Given the description of an element on the screen output the (x, y) to click on. 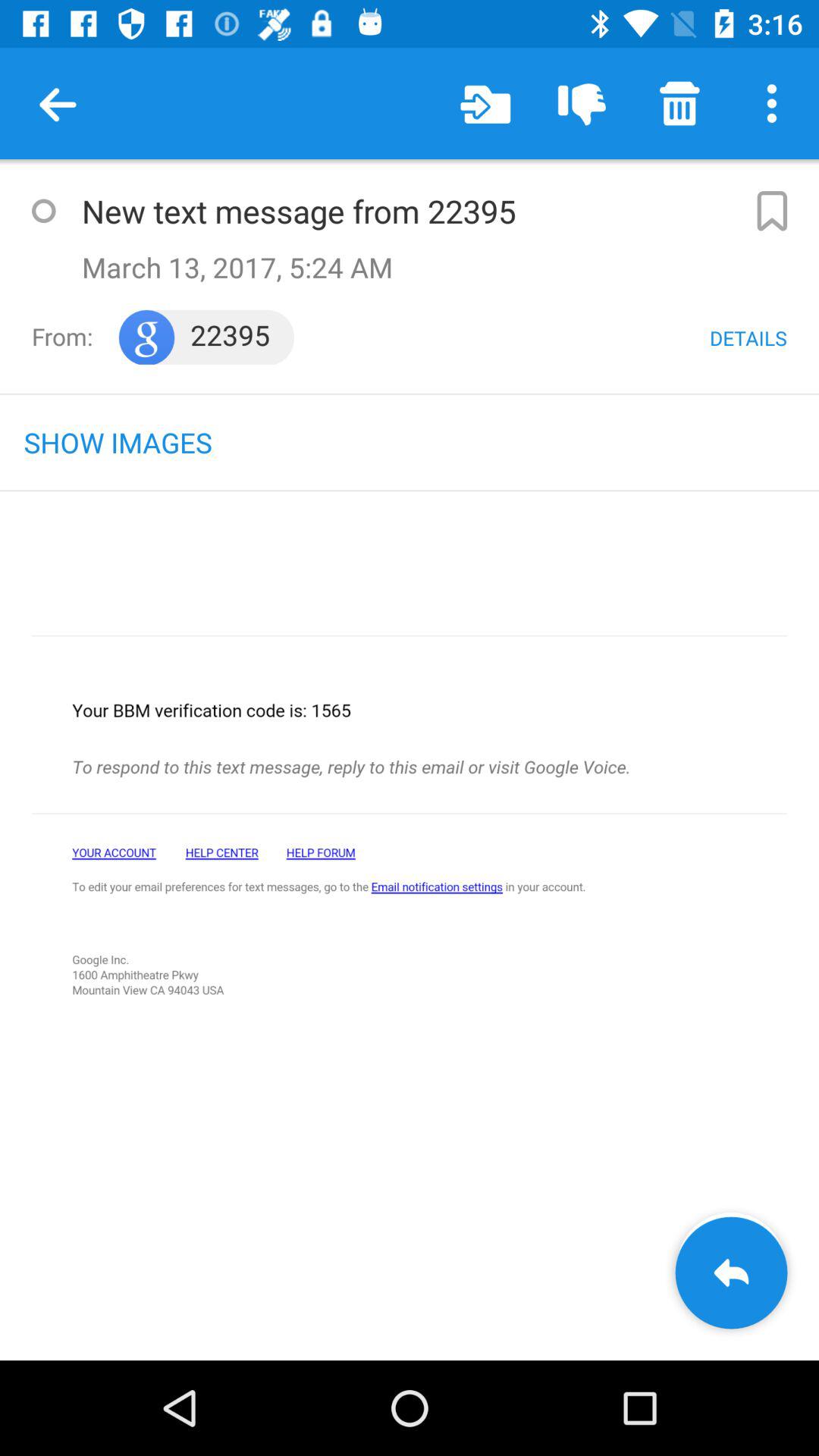
flag email (771, 210)
